Given the description of an element on the screen output the (x, y) to click on. 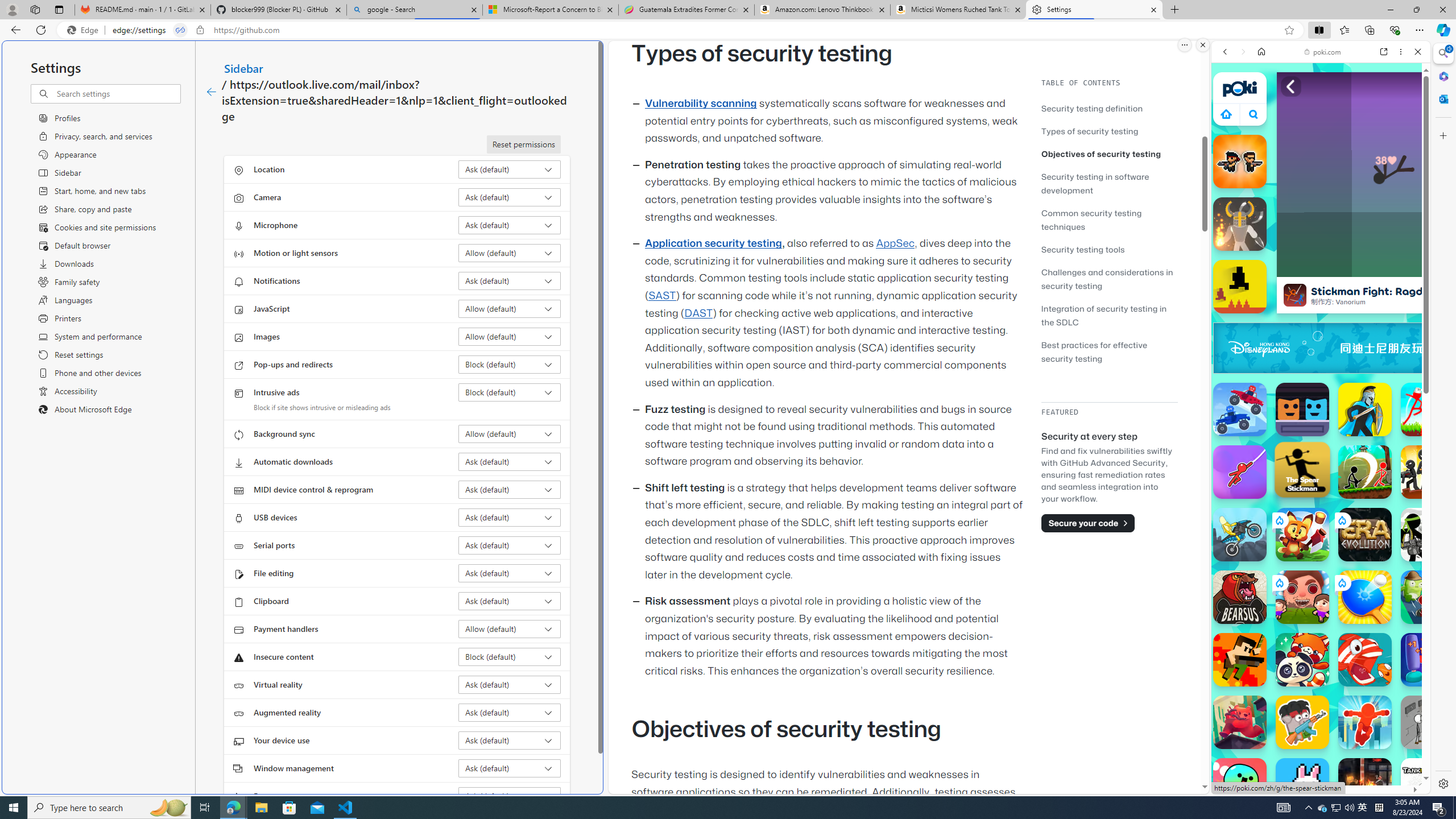
Types of security testing (1109, 130)
Io Games (1320, 350)
Vulnerability scanning (701, 103)
Class: aprWdaSScyiJf4Jvmsx9 (1225, 113)
More options (1401, 51)
Stick Defenders (1427, 471)
Workspaces (34, 9)
Combat Reloaded (1349, 523)
Security testing tools (1083, 248)
Click to scroll right (1407, 549)
Web scope (1230, 102)
Car Games (1320, 267)
The Spear Stickman (1302, 469)
